Given the description of an element on the screen output the (x, y) to click on. 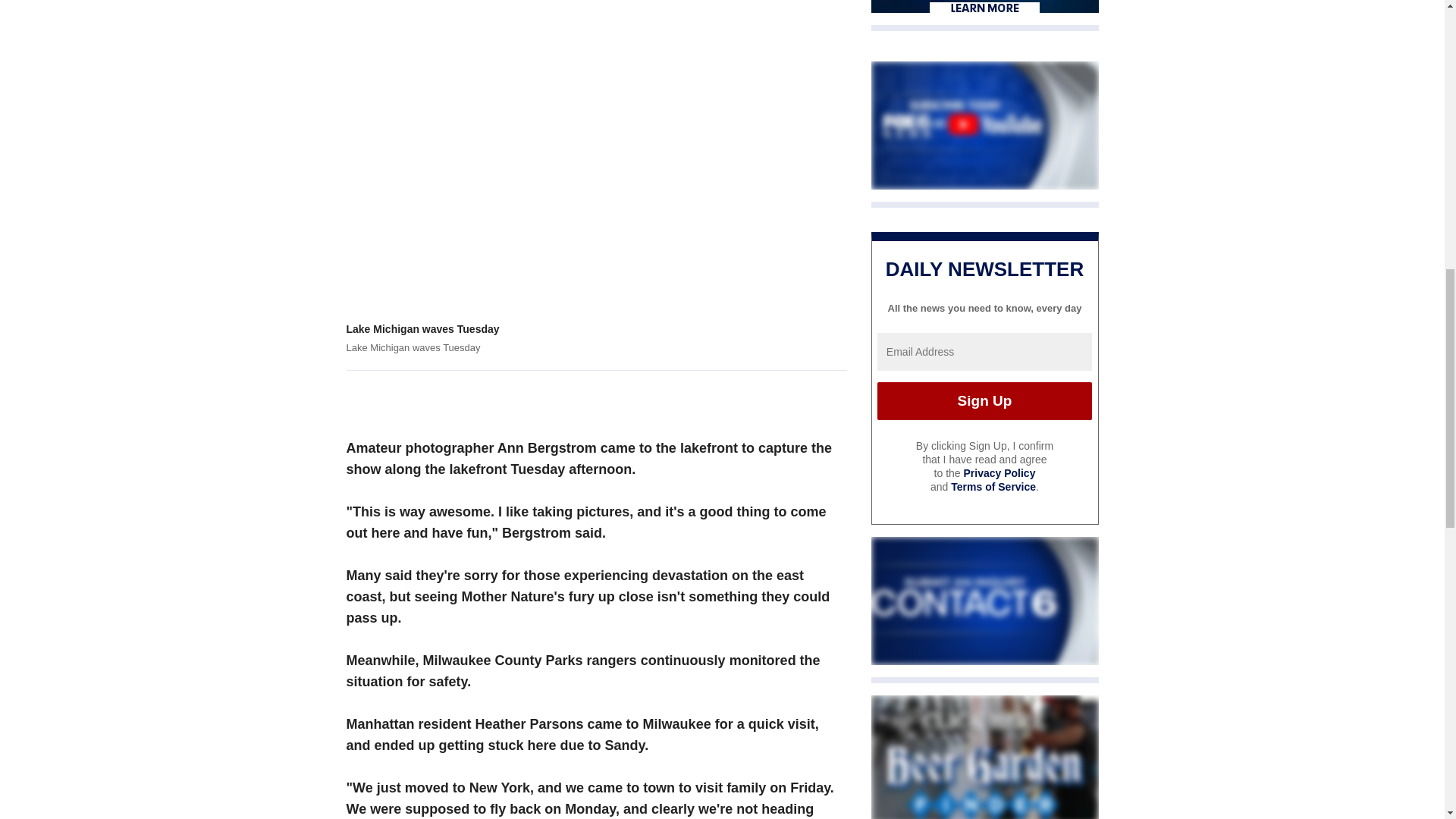
Sign Up (984, 401)
